Given the description of an element on the screen output the (x, y) to click on. 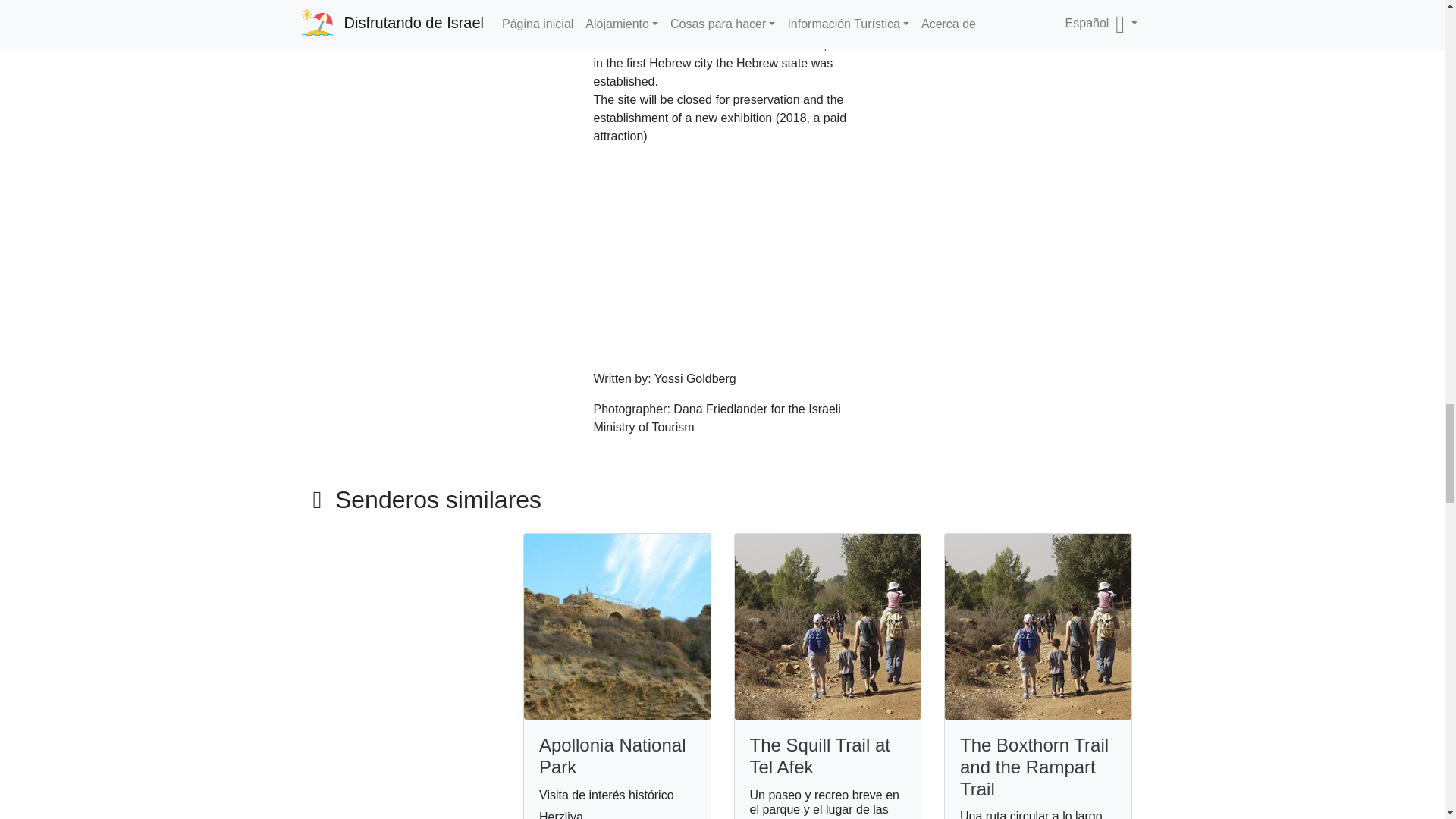
The Squill Trail at Tel Afek (819, 755)
The Boxthorn Trail and the Rampart Trail (1033, 766)
Apollonia National Park (611, 755)
